Given the description of an element on the screen output the (x, y) to click on. 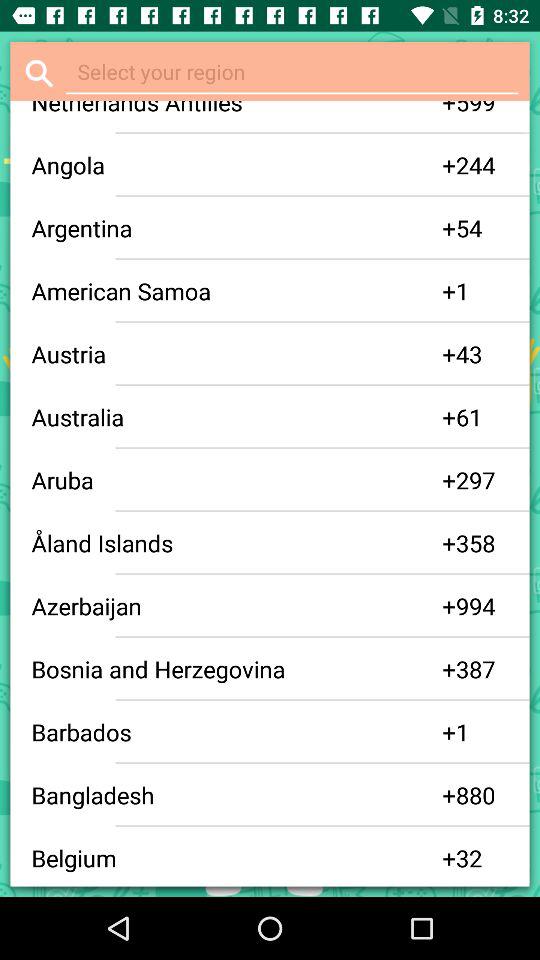
launch the app to the left of the + item (236, 732)
